Given the description of an element on the screen output the (x, y) to click on. 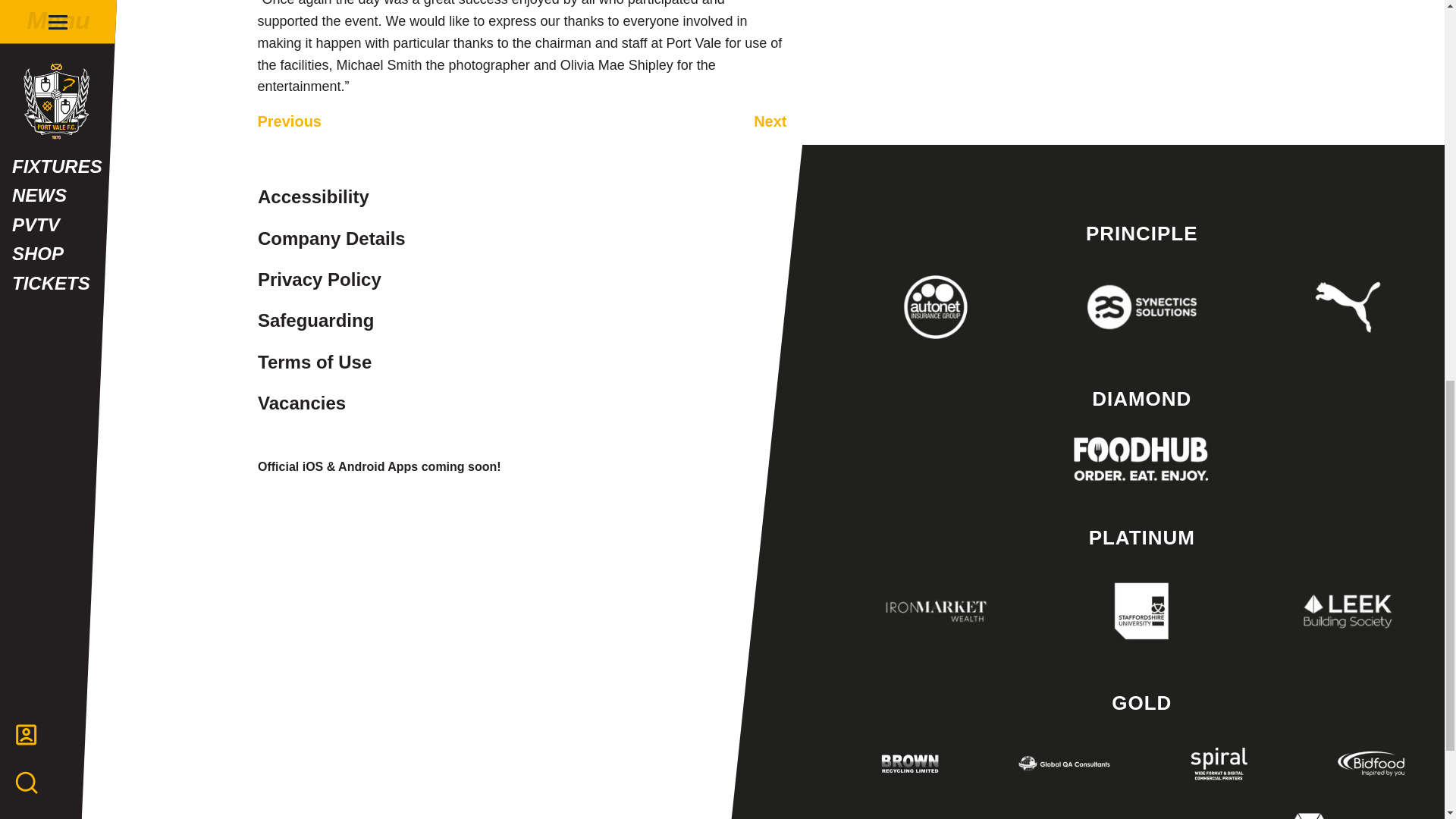
Puma (1348, 306)
Synectics (1141, 306)
Ironmarket (936, 610)
Staffordshire Uni (1141, 610)
Autonet (936, 306)
Foodhub (1141, 458)
